Given the description of an element on the screen output the (x, y) to click on. 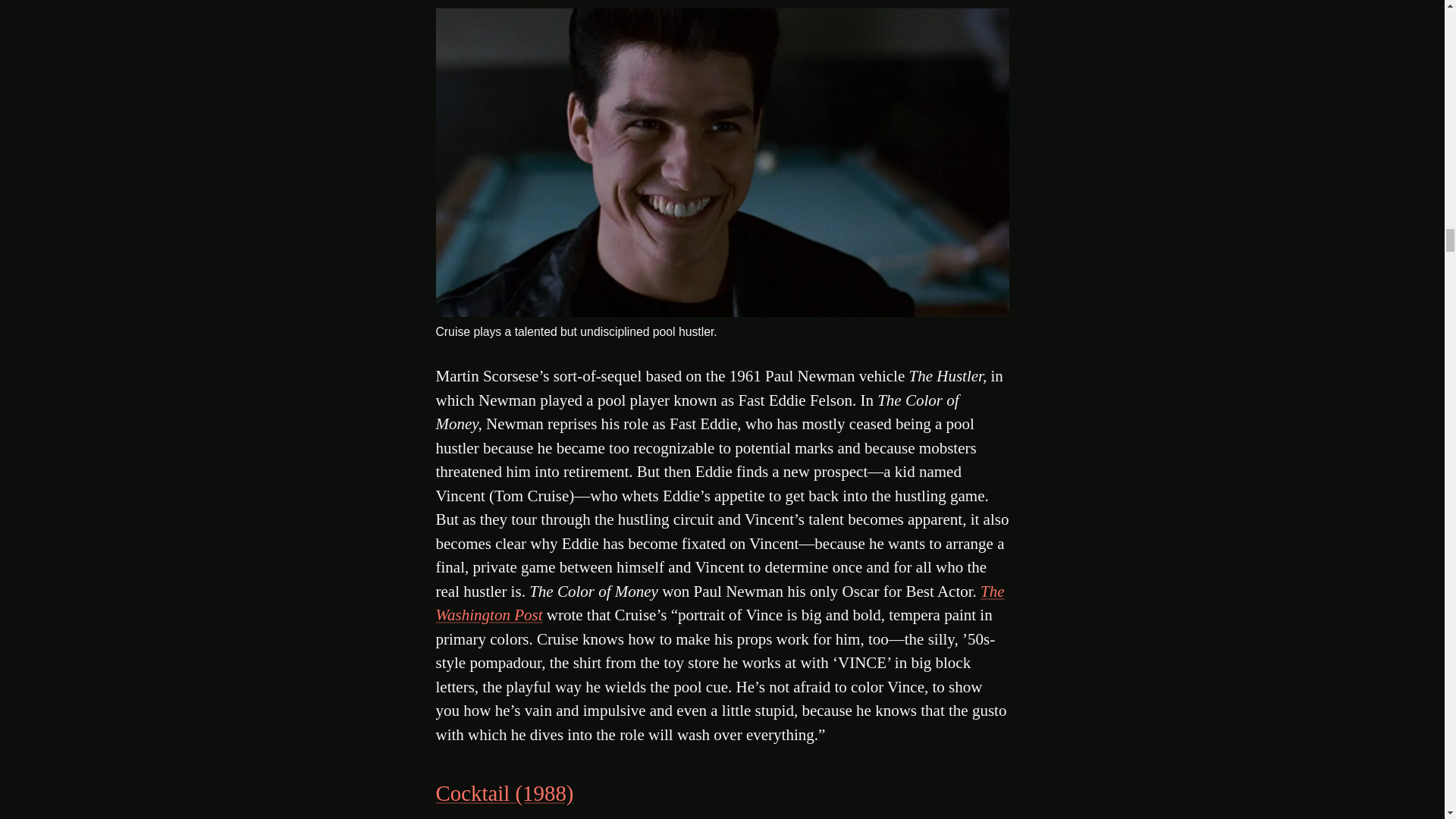
The Washington Post (719, 603)
